Given the description of an element on the screen output the (x, y) to click on. 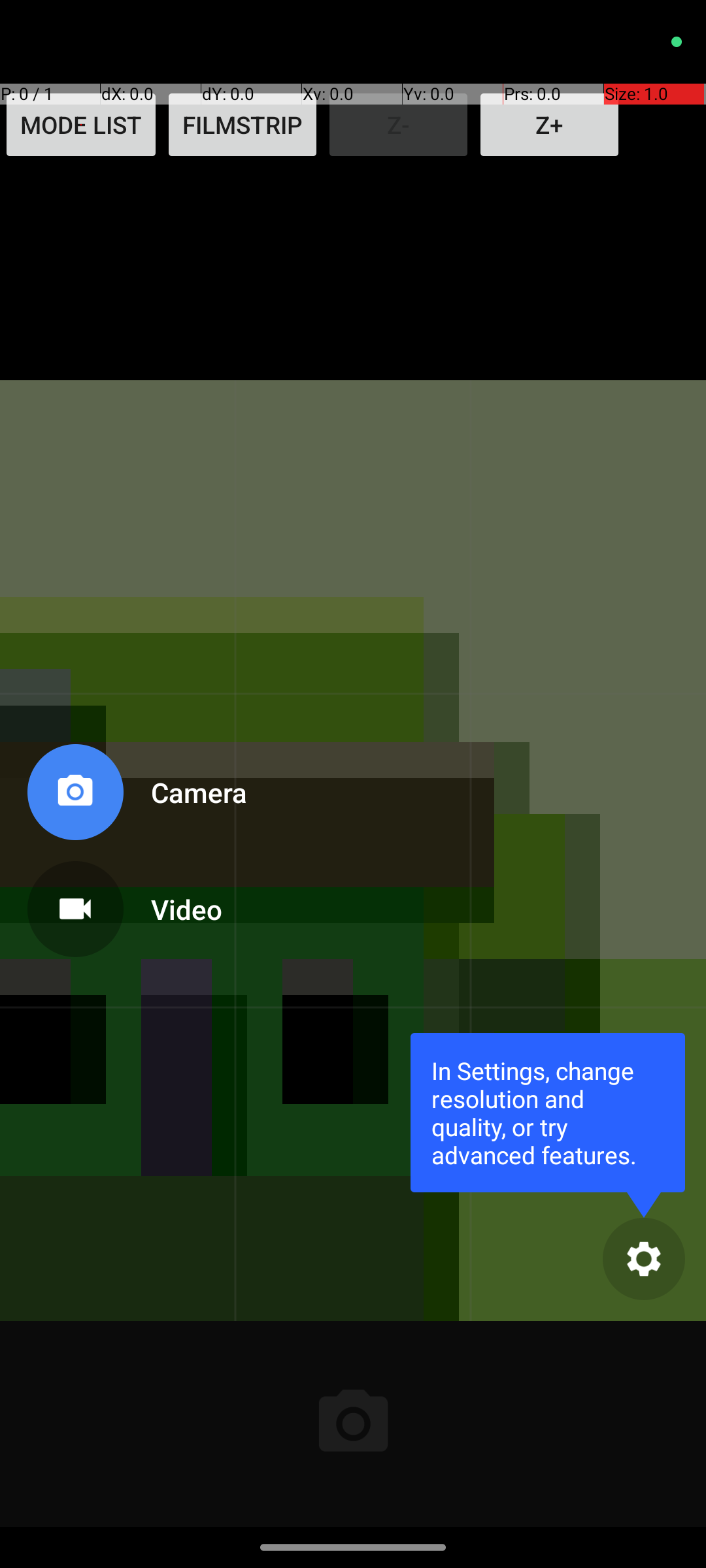
Switch to Camera Mode Element type: android.widget.FrameLayout (134, 797)
Switch to Video Camera Element type: android.widget.FrameLayout (134, 903)
In Settings, change resolution and quality, or try advanced features. Element type: android.widget.TextView (547, 1112)
Camera Element type: android.widget.TextView (185, 792)
